Given the description of an element on the screen output the (x, y) to click on. 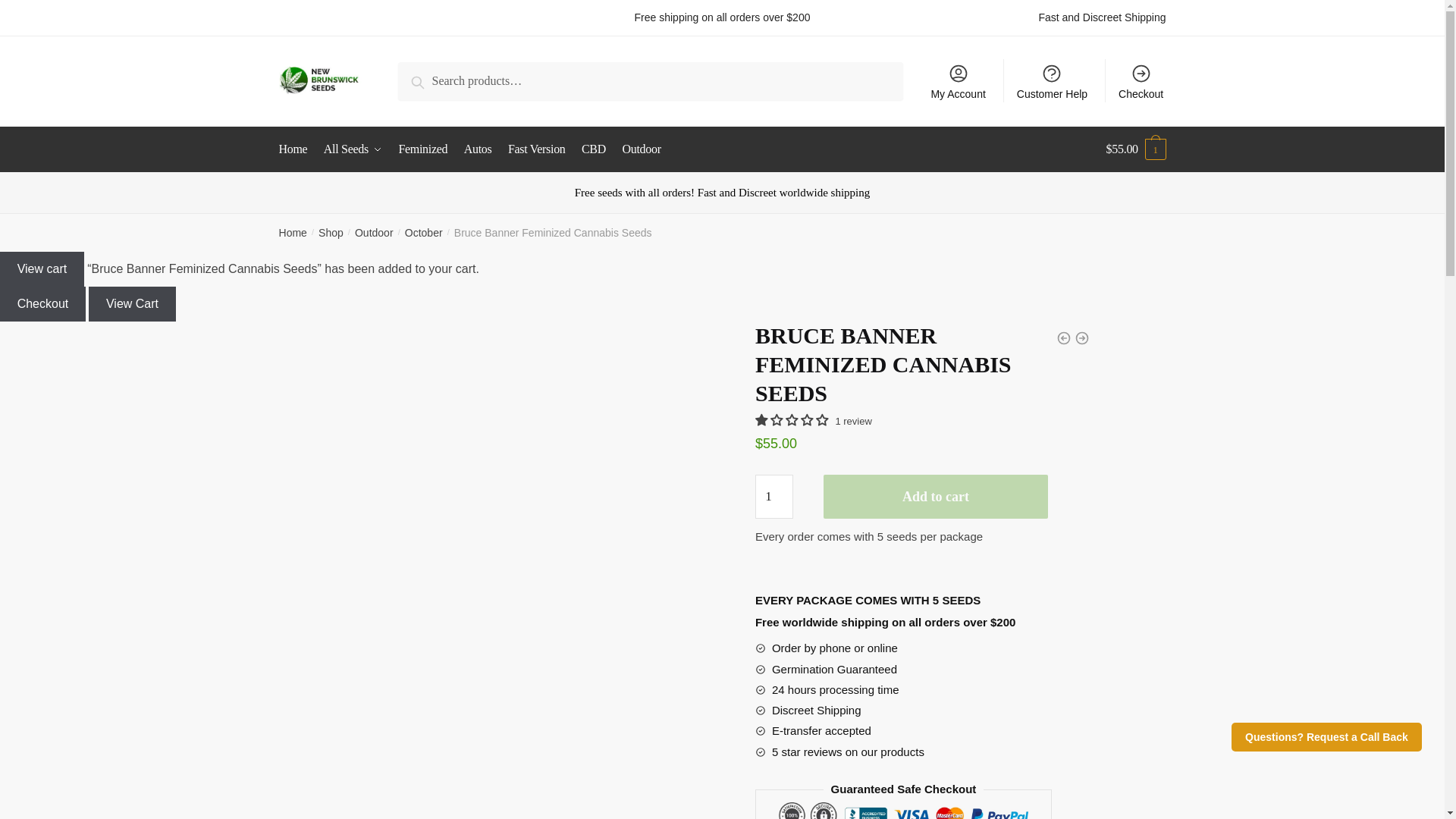
All Seeds (352, 148)
View cart (42, 268)
Customer Help (1052, 80)
Checkout (1141, 80)
Shop (330, 232)
My Account (957, 80)
View Cart (131, 303)
Checkout (42, 303)
Home (293, 232)
October (423, 232)
